Given the description of an element on the screen output the (x, y) to click on. 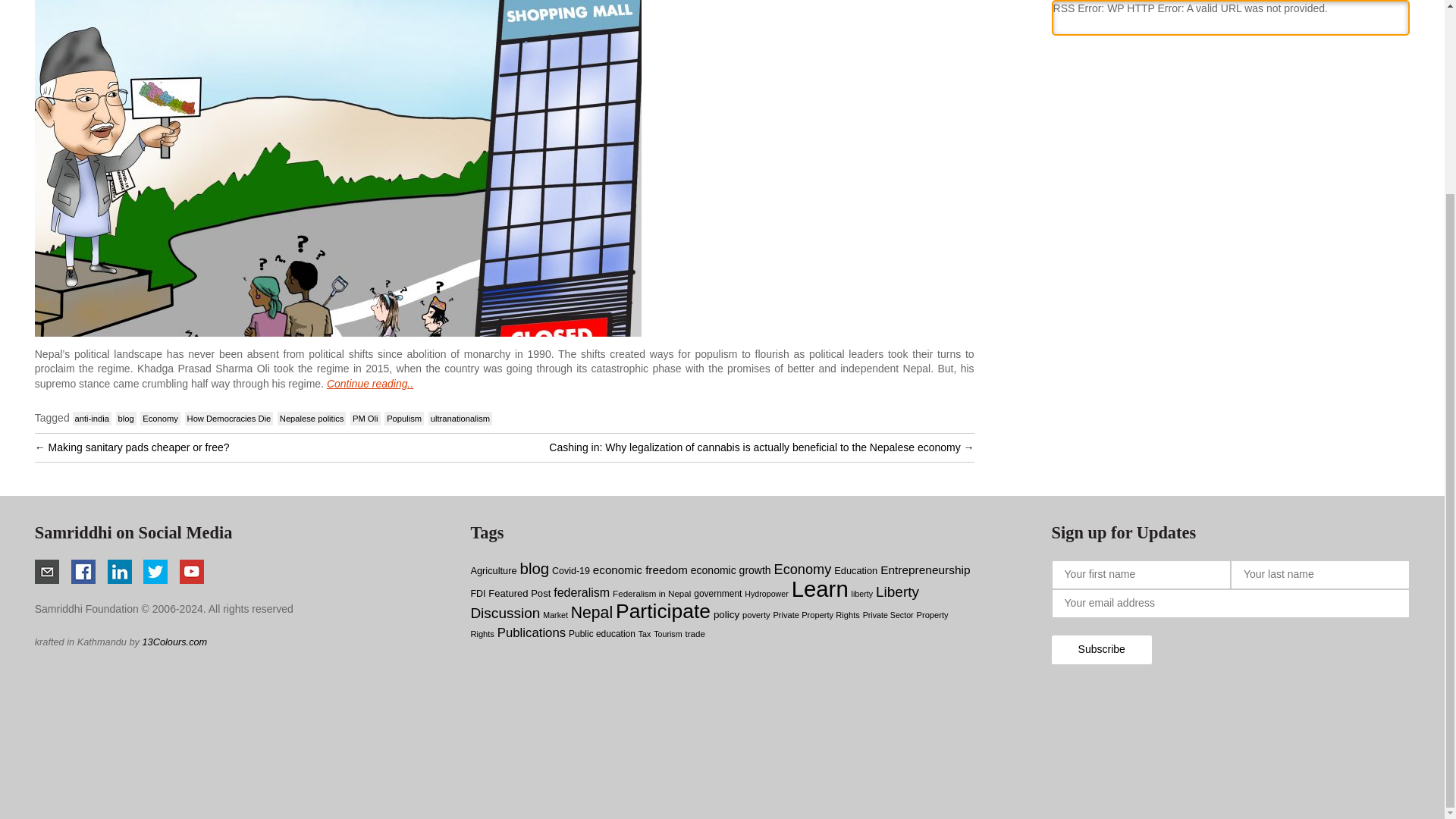
Email (46, 571)
YouTube (191, 571)
Subscribe (1101, 649)
Facebook (83, 571)
Twitter (154, 571)
LinkedIn (119, 571)
